Given the description of an element on the screen output the (x, y) to click on. 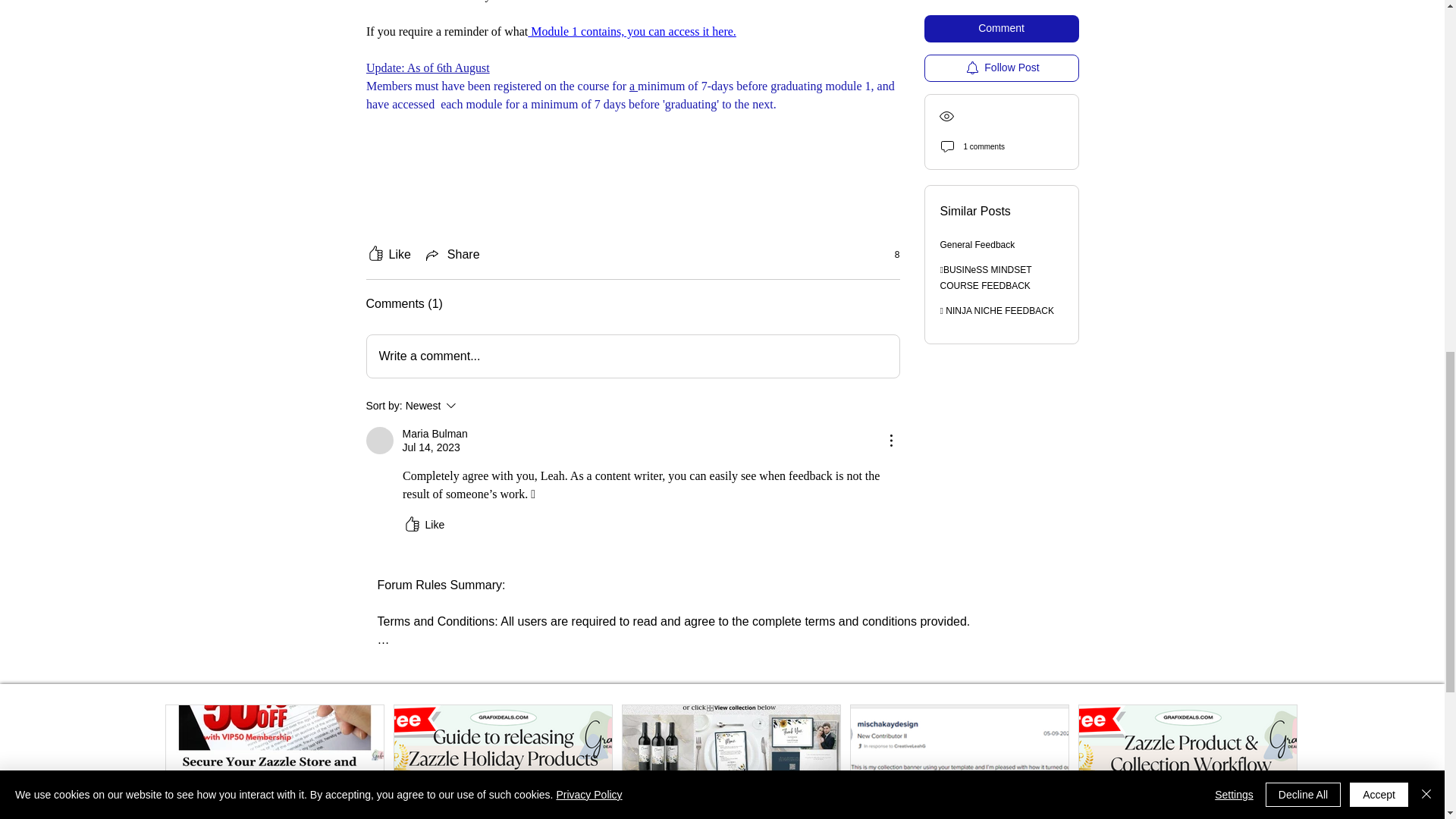
Write a comment... (632, 355)
 Module 1 contains, you can access it here. (631, 31)
Share (451, 254)
Like (422, 524)
Maria Bulman (471, 405)
Maria Bulman (434, 433)
Like (379, 440)
8 (387, 254)
